Given the description of an element on the screen output the (x, y) to click on. 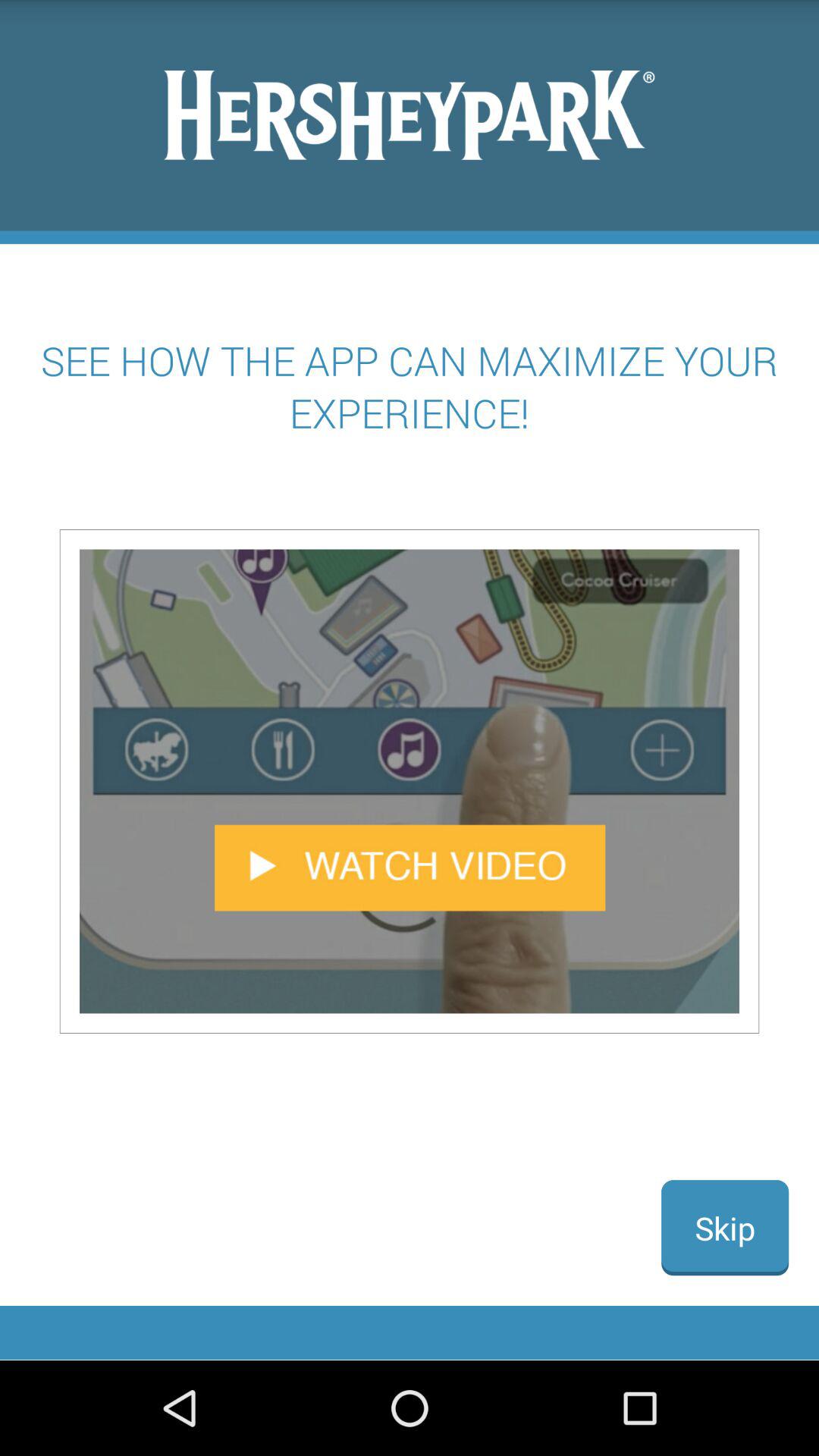
watch video (409, 781)
